Given the description of an element on the screen output the (x, y) to click on. 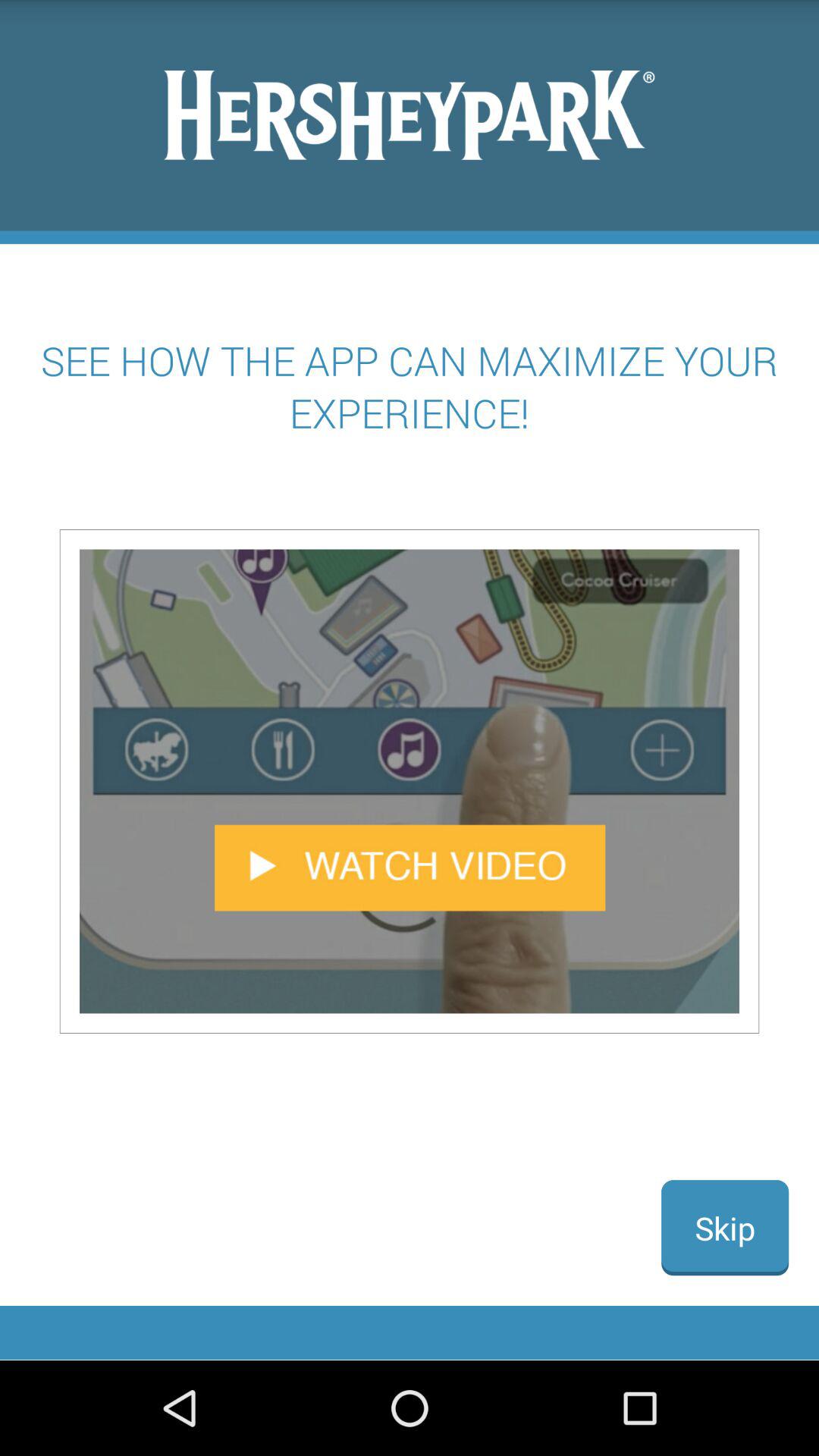
watch video (409, 781)
